Given the description of an element on the screen output the (x, y) to click on. 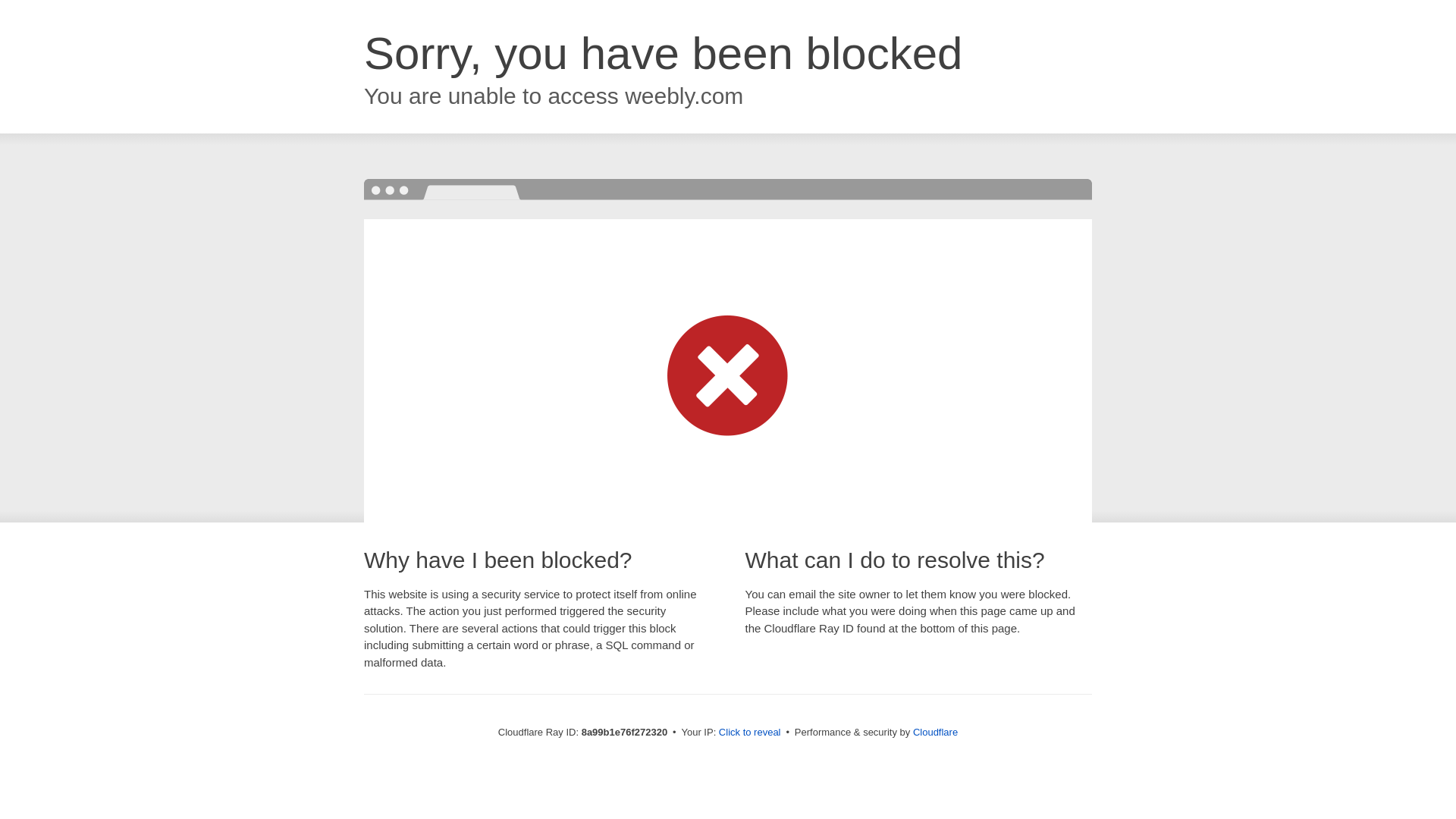
Click to reveal (749, 732)
Cloudflare (935, 731)
